Given the description of an element on the screen output the (x, y) to click on. 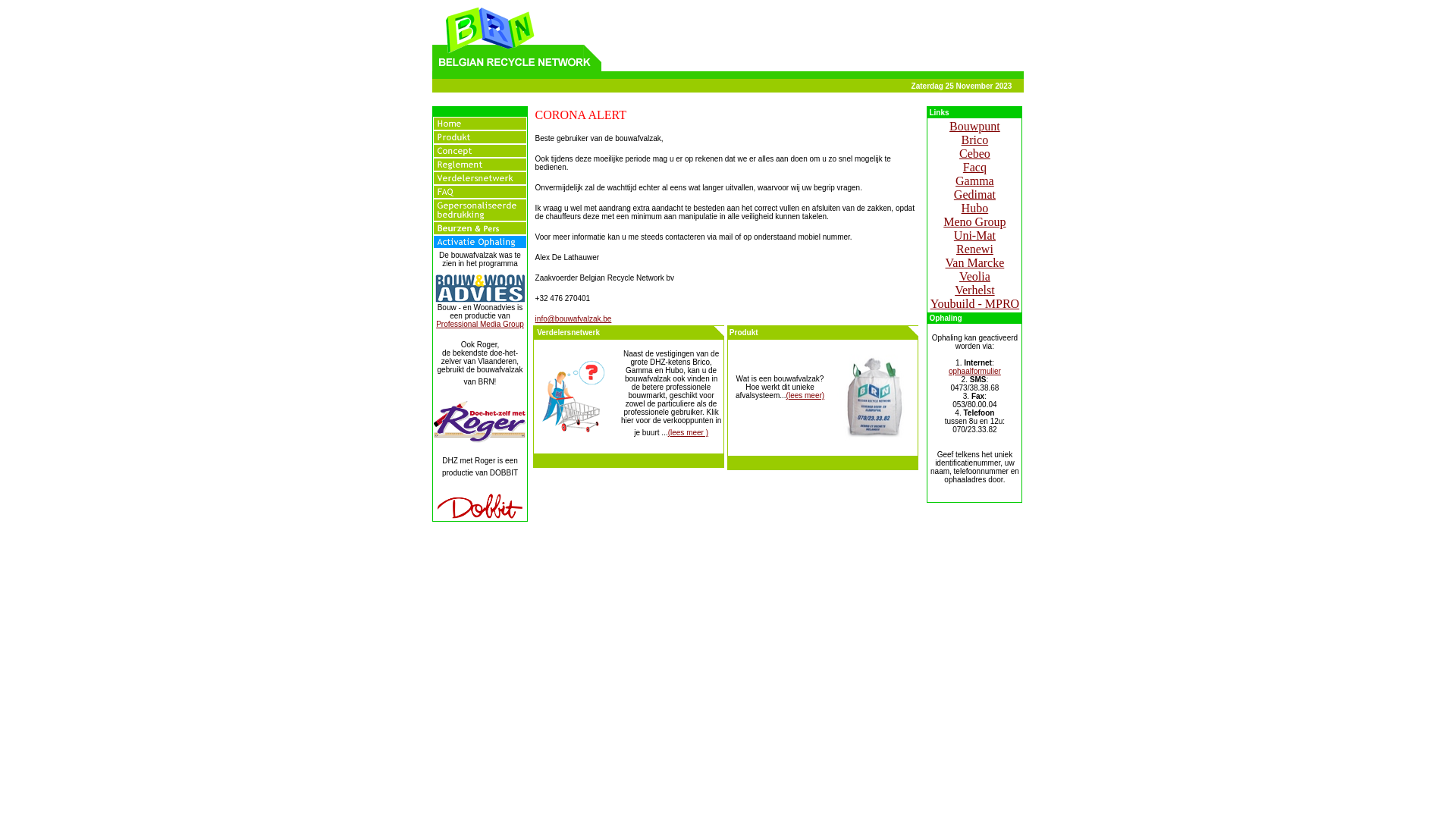
Professional Media Group Element type: text (480, 324)
Verhelst Element type: text (974, 289)
Renewi Element type: text (974, 248)
Youbuild - MPRO Element type: text (974, 303)
Bouwpunt Element type: text (974, 125)
Van Marcke Element type: text (974, 262)
(lees meer ) Element type: text (688, 432)
ophaalformulier Element type: text (974, 371)
Hubo Element type: text (974, 207)
Uni-Mat Element type: text (974, 235)
Veolia Element type: text (974, 275)
Brico Element type: text (974, 139)
info@bouwafvalzak.be Element type: text (573, 318)
Gamma Element type: text (974, 180)
Cebeo Element type: text (974, 153)
Facq Element type: text (974, 166)
Gedimat Element type: text (974, 194)
(lees meer) Element type: text (805, 395)
Meno Group Element type: text (974, 221)
